Given the description of an element on the screen output the (x, y) to click on. 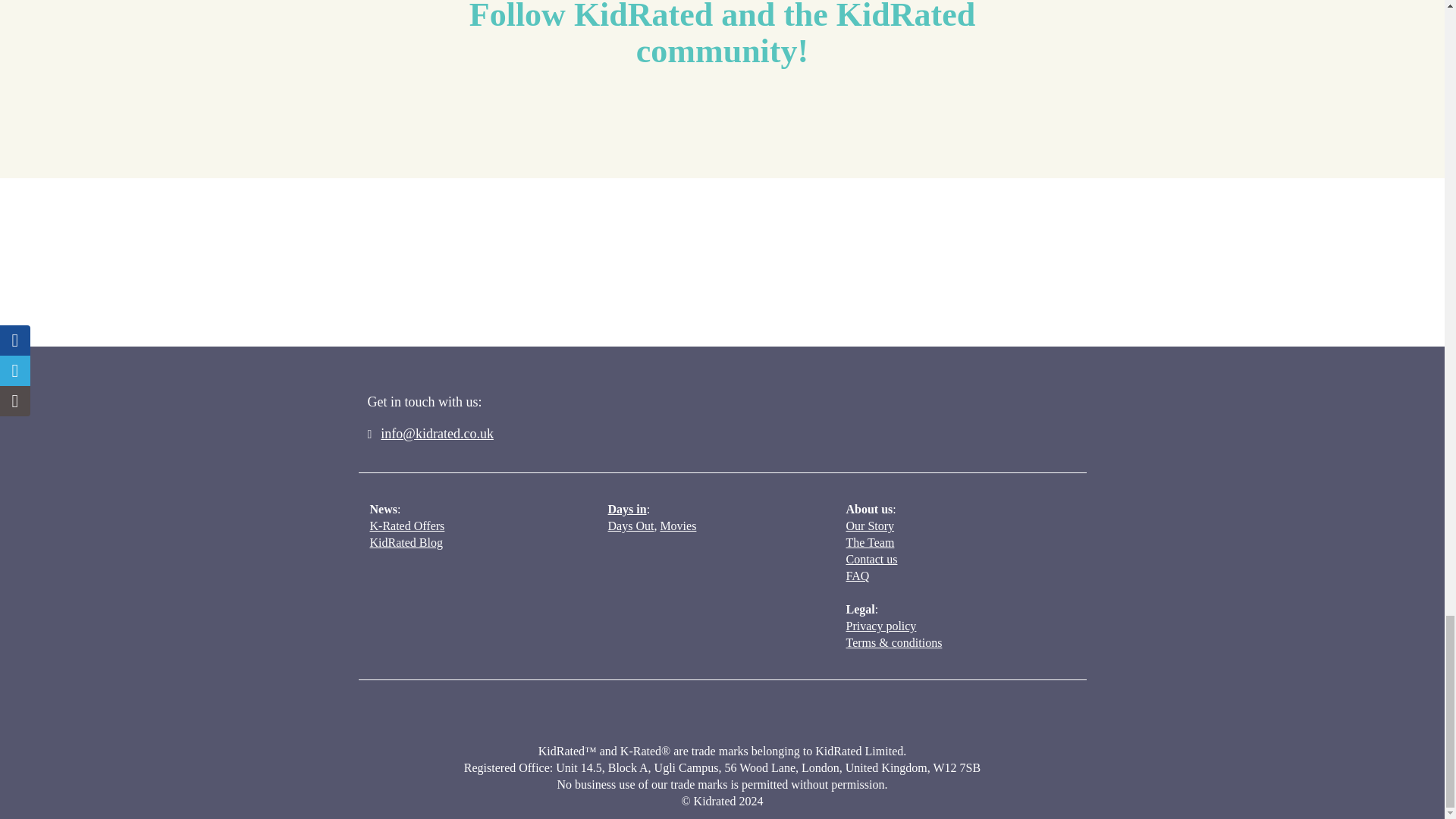
Kidrated's Youtube Channel (721, 118)
Kidrated's Pinterest (834, 118)
Kidrated's Twitter (666, 118)
Kidrated's Facebook (609, 118)
Evening Standard (404, 278)
Kidrated's Instagram (778, 118)
